Given the description of an element on the screen output the (x, y) to click on. 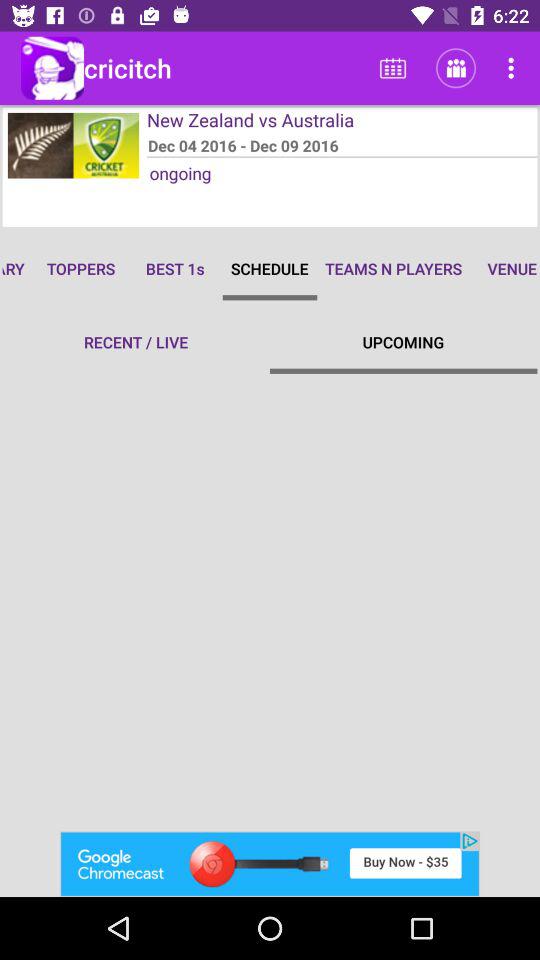
go to advertisement (270, 864)
